Given the description of an element on the screen output the (x, y) to click on. 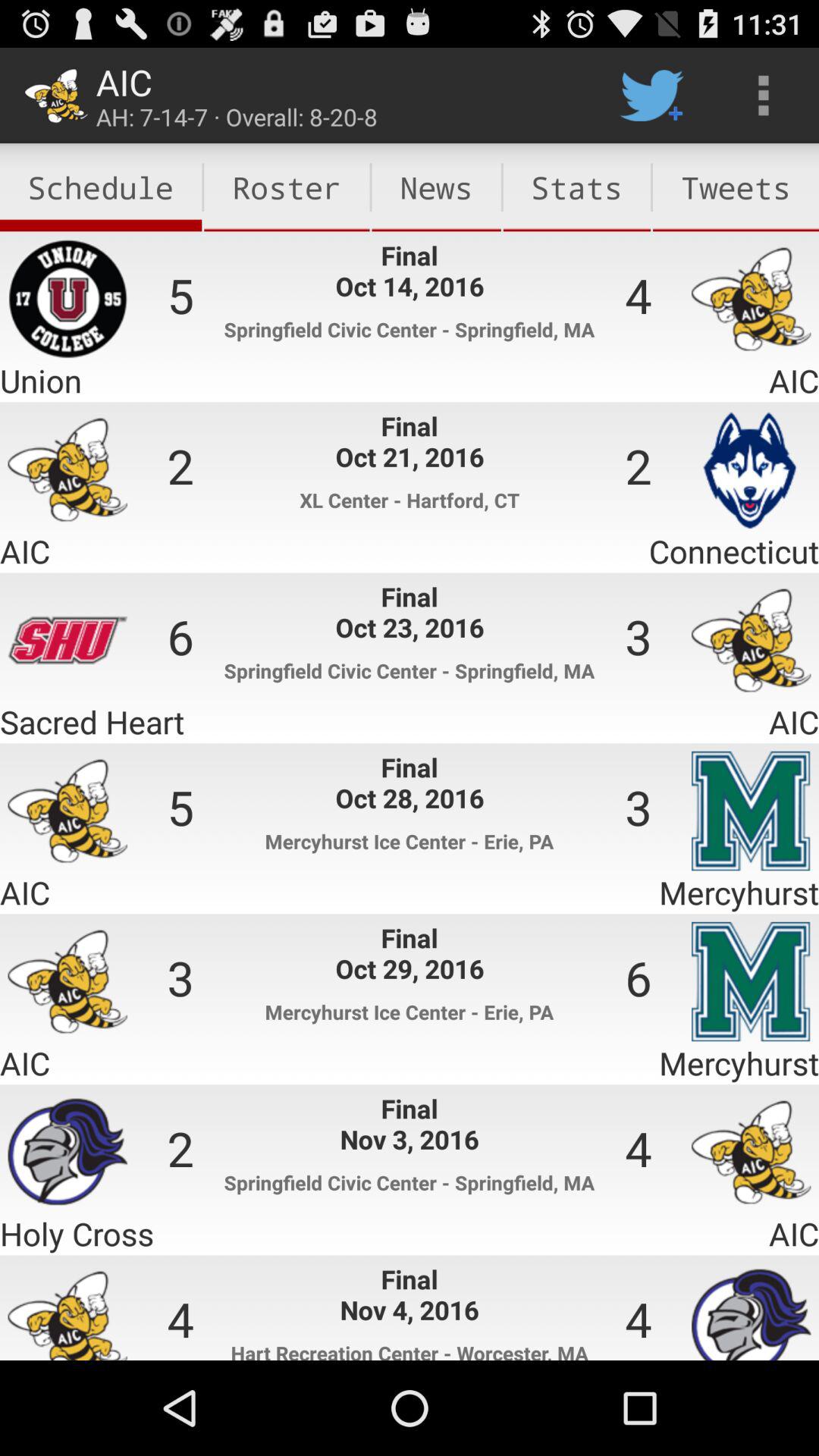
open item above the stats item (651, 95)
